Given the description of an element on the screen output the (x, y) to click on. 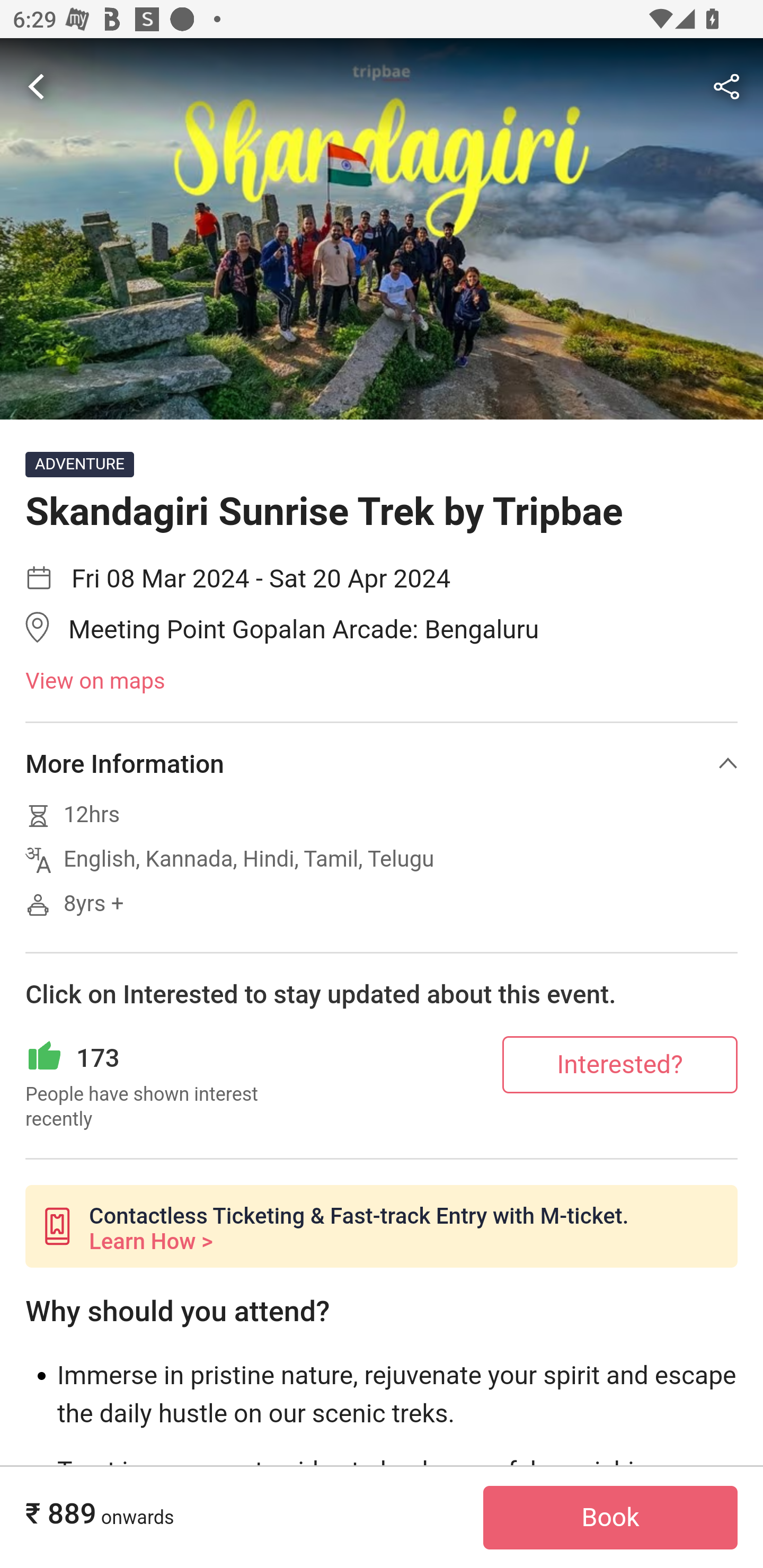
View on maps (381, 681)
More Information (381, 763)
Interested? (619, 1063)
Learn How > (150, 1241)
Book (609, 1517)
